Given the description of an element on the screen output the (x, y) to click on. 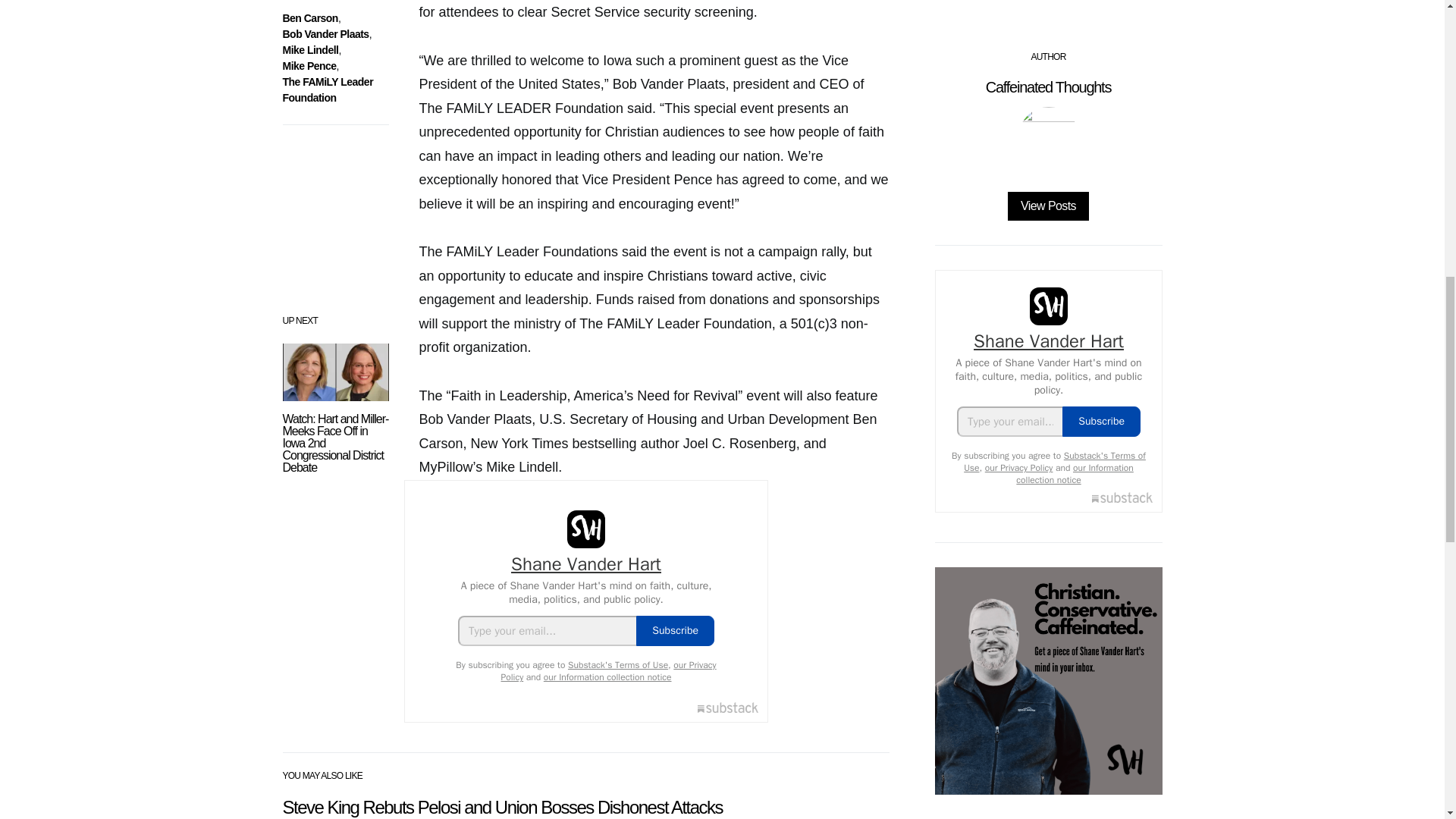
The FAMiLY Leader Foundation (327, 90)
Ben Carson (309, 18)
Mike Pence (309, 65)
Bob Vander Plaats (325, 33)
Mike Lindell (309, 50)
